Given the description of an element on the screen output the (x, y) to click on. 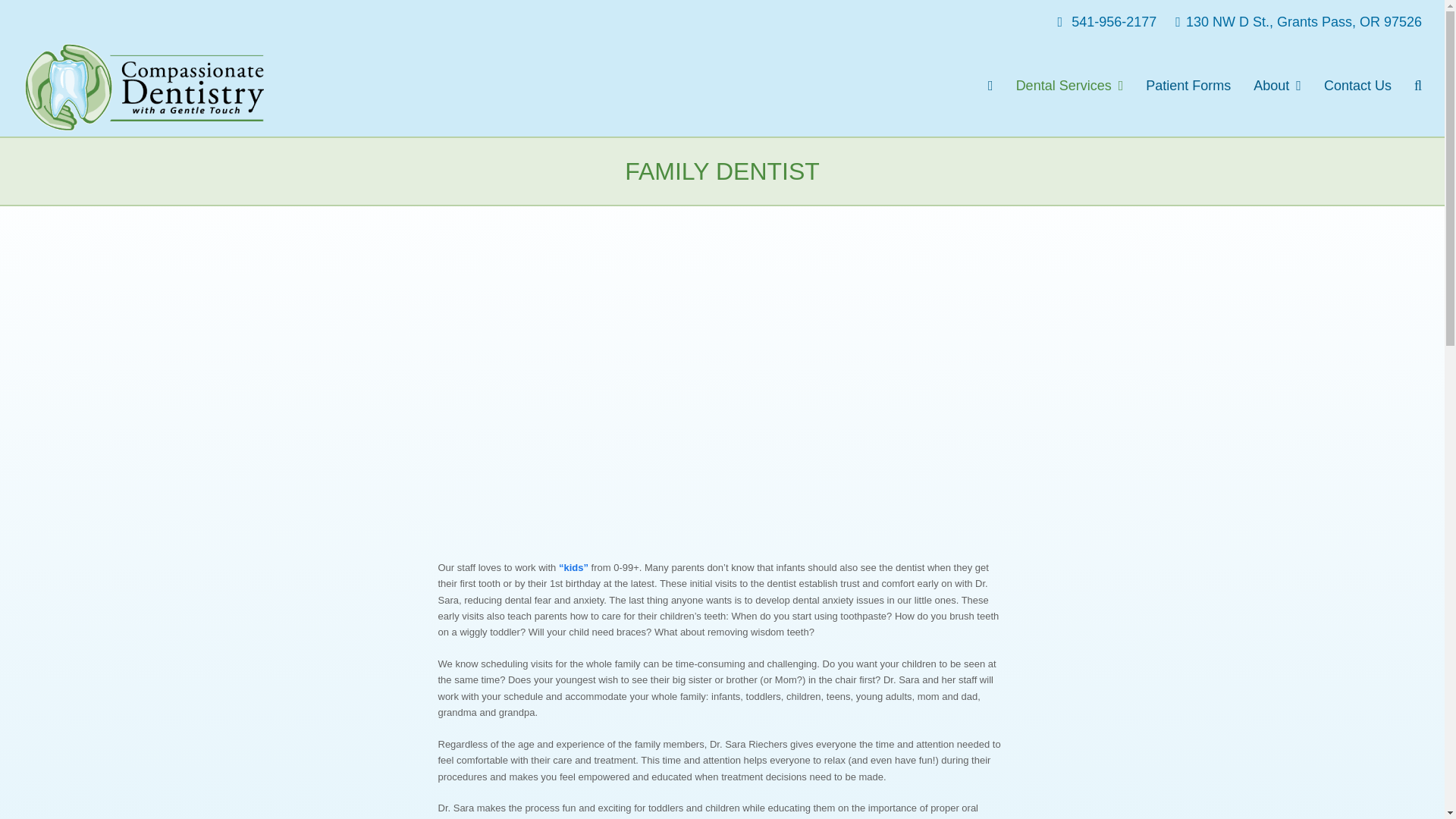
Patient Forms (1187, 86)
Contact Us (1358, 86)
541-956-2177 (1099, 21)
Dental Services (1069, 86)
About (1277, 86)
130 NW D St., Grants Pass, OR 97526 (1291, 21)
